Given the description of an element on the screen output the (x, y) to click on. 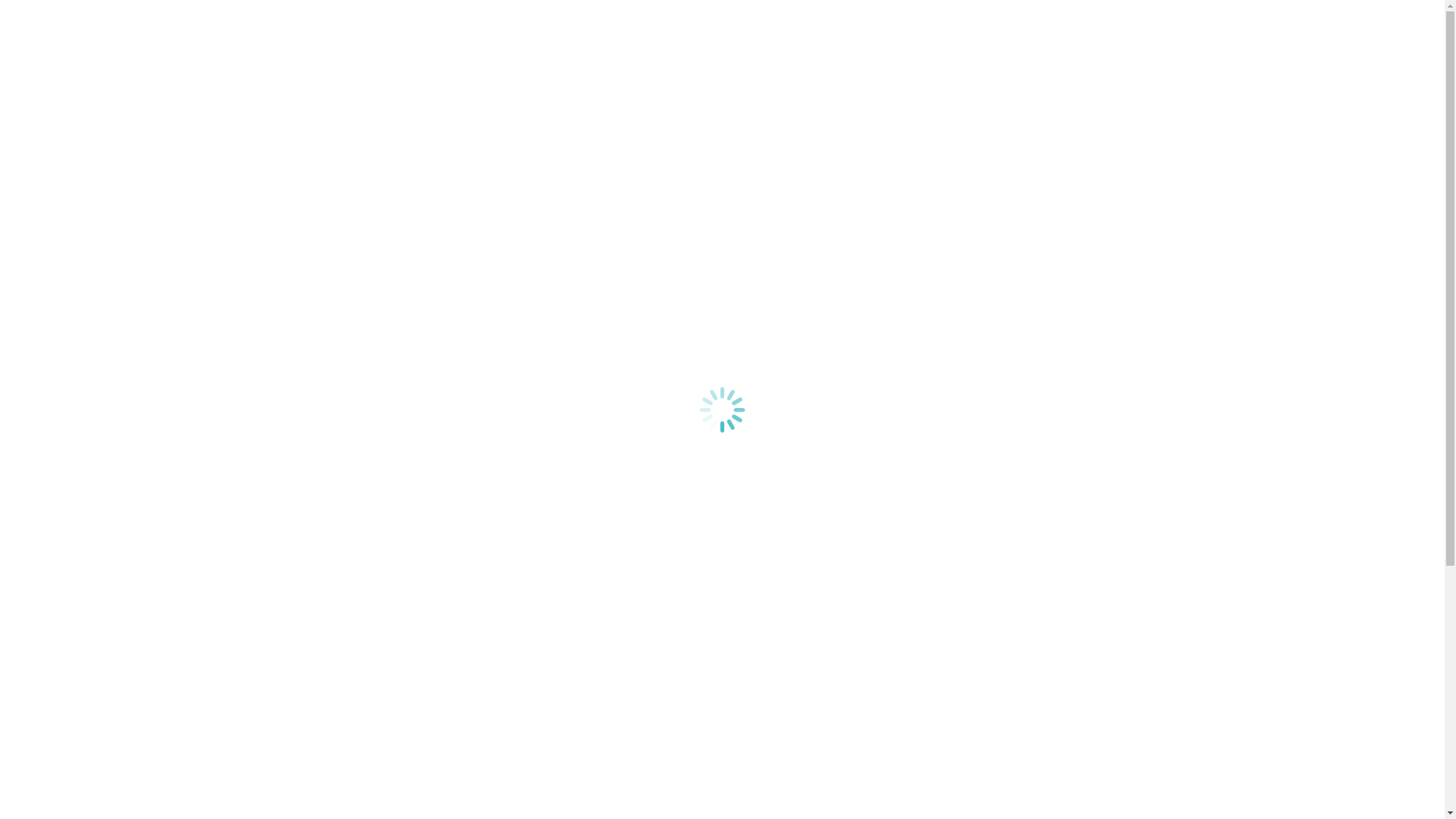
OUR CLIENTS Element type: text (1225, 86)
ABOUT US Element type: text (1108, 86)
HOW IT WORKS Element type: text (616, 86)
VIEW GALLERY Element type: text (158, 633)
CONTACT US Element type: text (1351, 86)
3SHAPE TRIOS SCANNER Element type: text (947, 86)
WHY CUSTOM Element type: text (476, 86)
HOME Element type: text (372, 86)
MOUTHGUARDS Element type: text (763, 86)
